Given the description of an element on the screen output the (x, y) to click on. 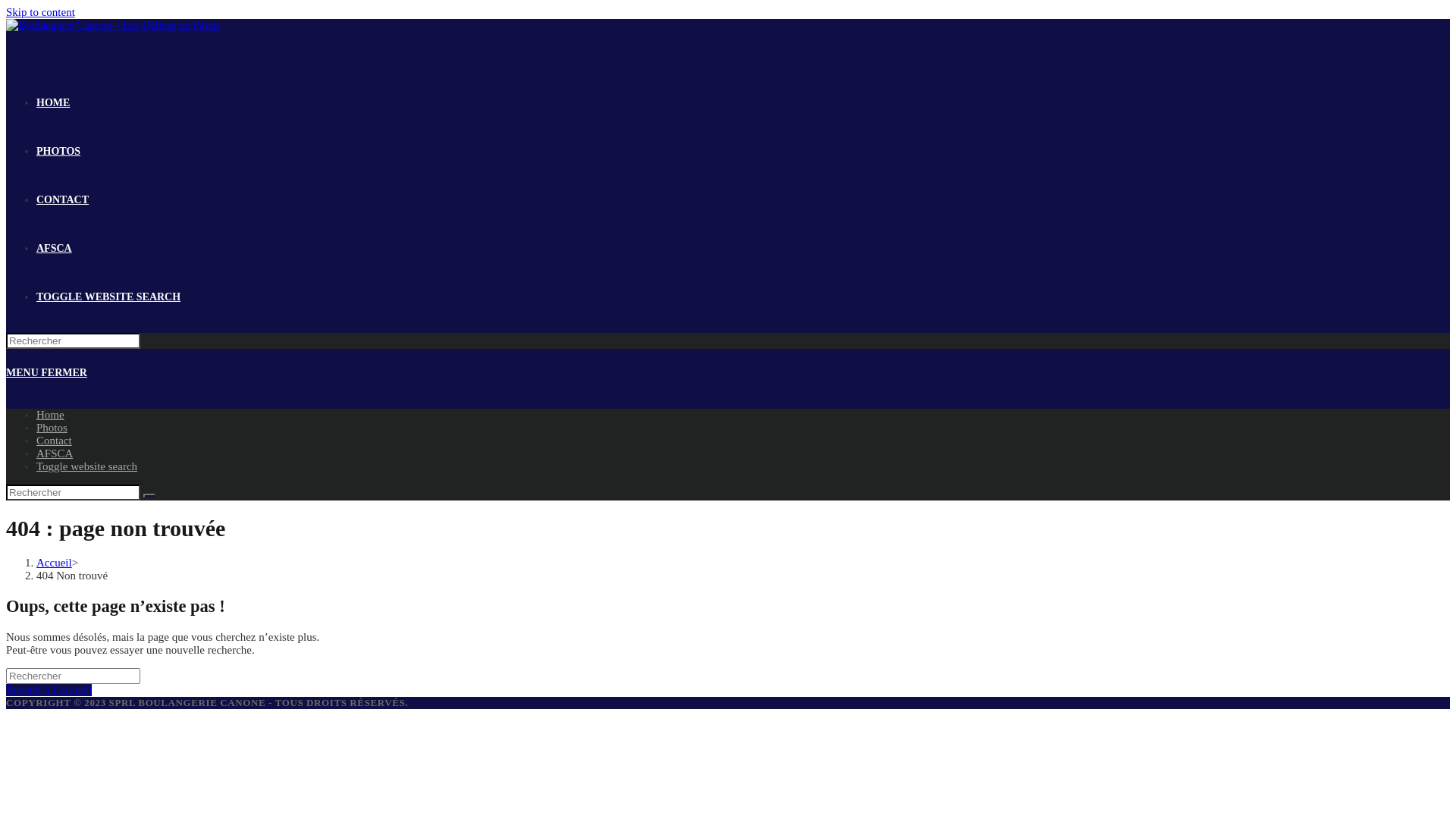
HOME Element type: text (52, 102)
Home Element type: text (50, 414)
CONTACT Element type: text (62, 199)
Contact Element type: text (54, 440)
AFSCA Element type: text (54, 453)
Photos Element type: text (51, 427)
Toggle website search Element type: text (86, 466)
AFSCA Element type: text (54, 248)
PHOTOS Element type: text (58, 150)
Skip to content Element type: text (40, 12)
Accueil Element type: text (54, 562)
MENU FERMER Element type: text (46, 372)
TOGGLE WEBSITE SEARCH Element type: text (108, 296)
